Given the description of an element on the screen output the (x, y) to click on. 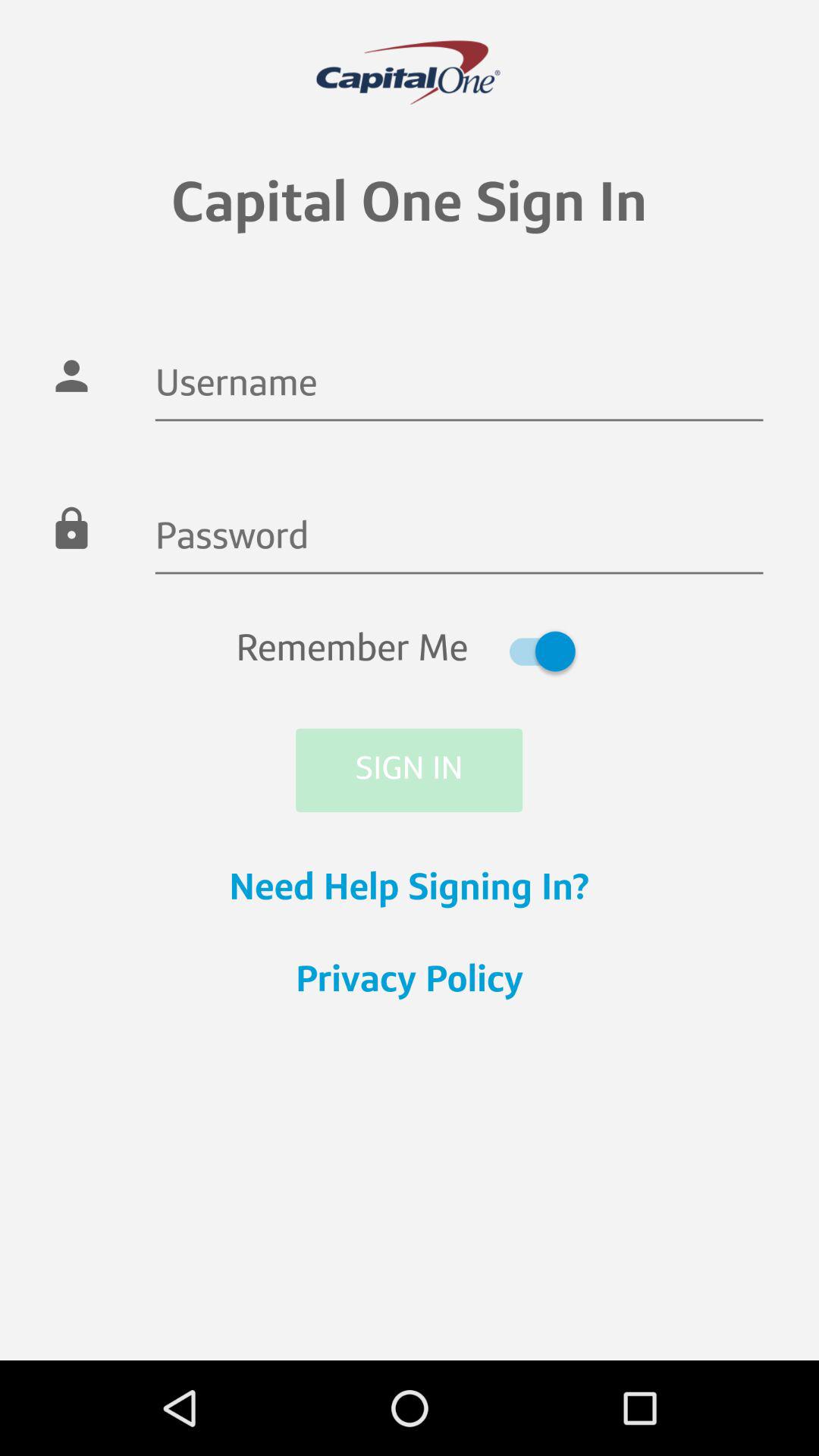
press item below the need help signing (409, 982)
